Given the description of an element on the screen output the (x, y) to click on. 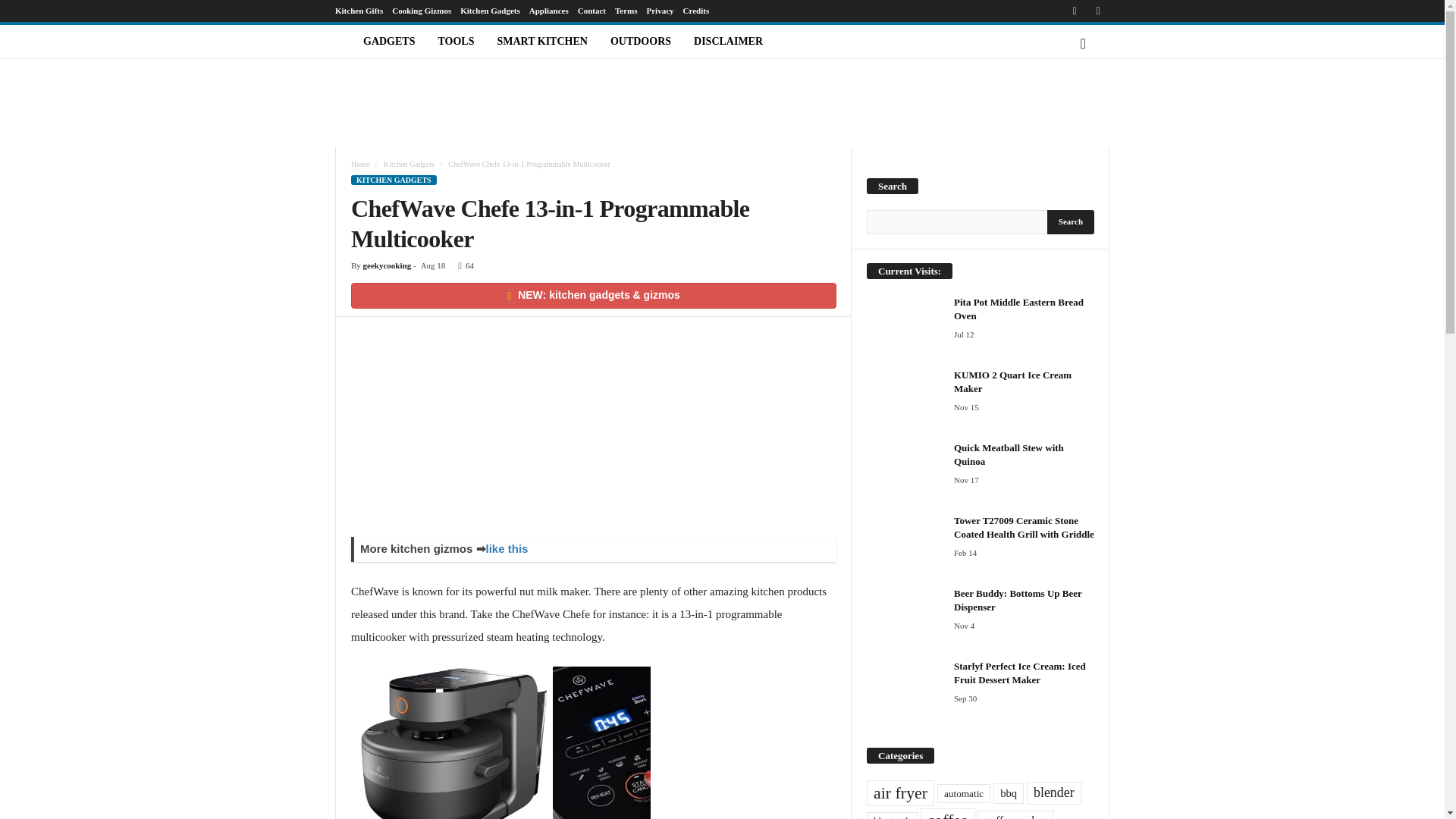
Search (1070, 221)
Cooking Gizmos (421, 10)
Appliances (549, 10)
Kitchen Gadgets (489, 10)
Kitchen Gifts (358, 10)
